Given the description of an element on the screen output the (x, y) to click on. 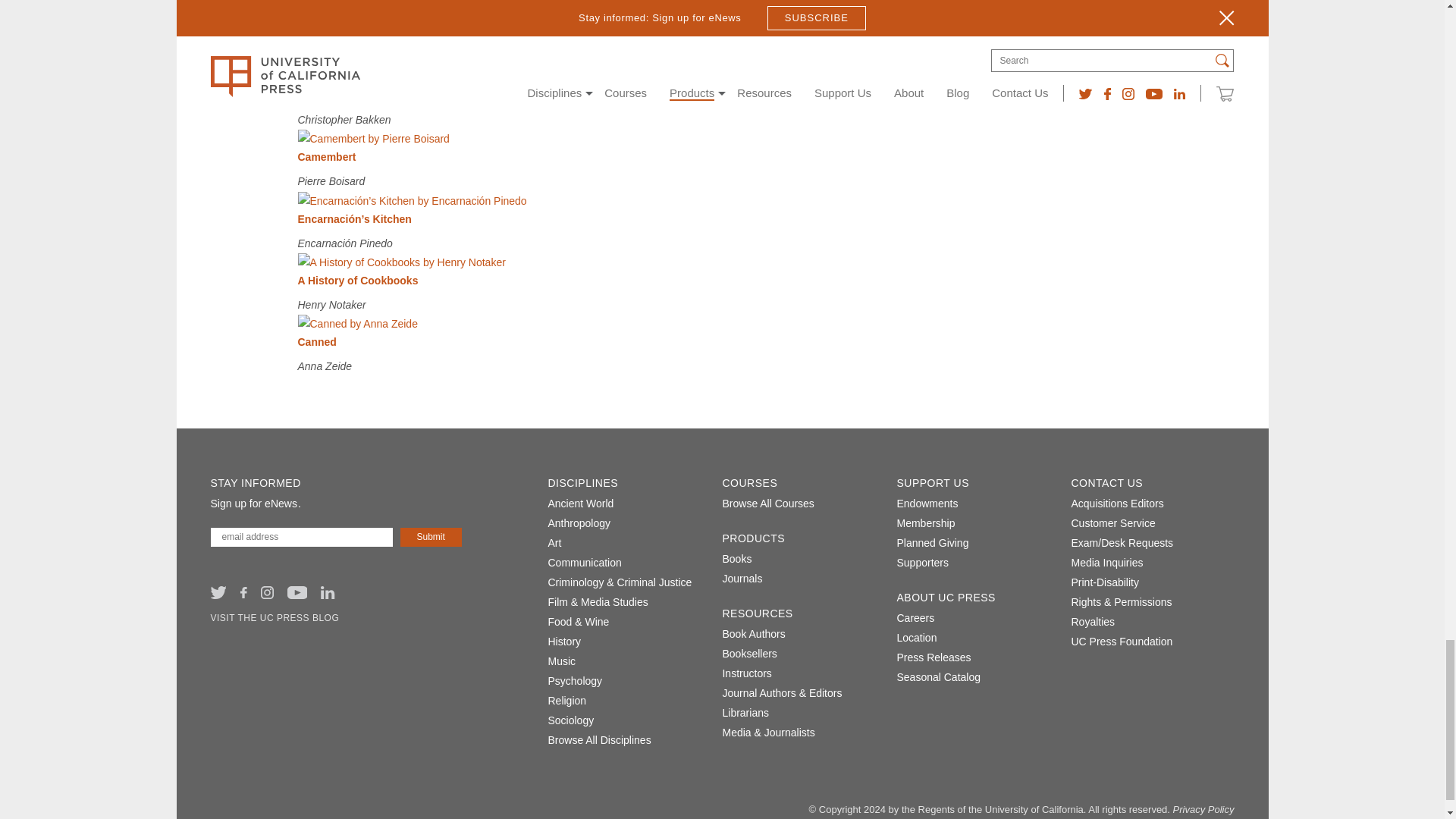
Submit (430, 537)
